Given the description of an element on the screen output the (x, y) to click on. 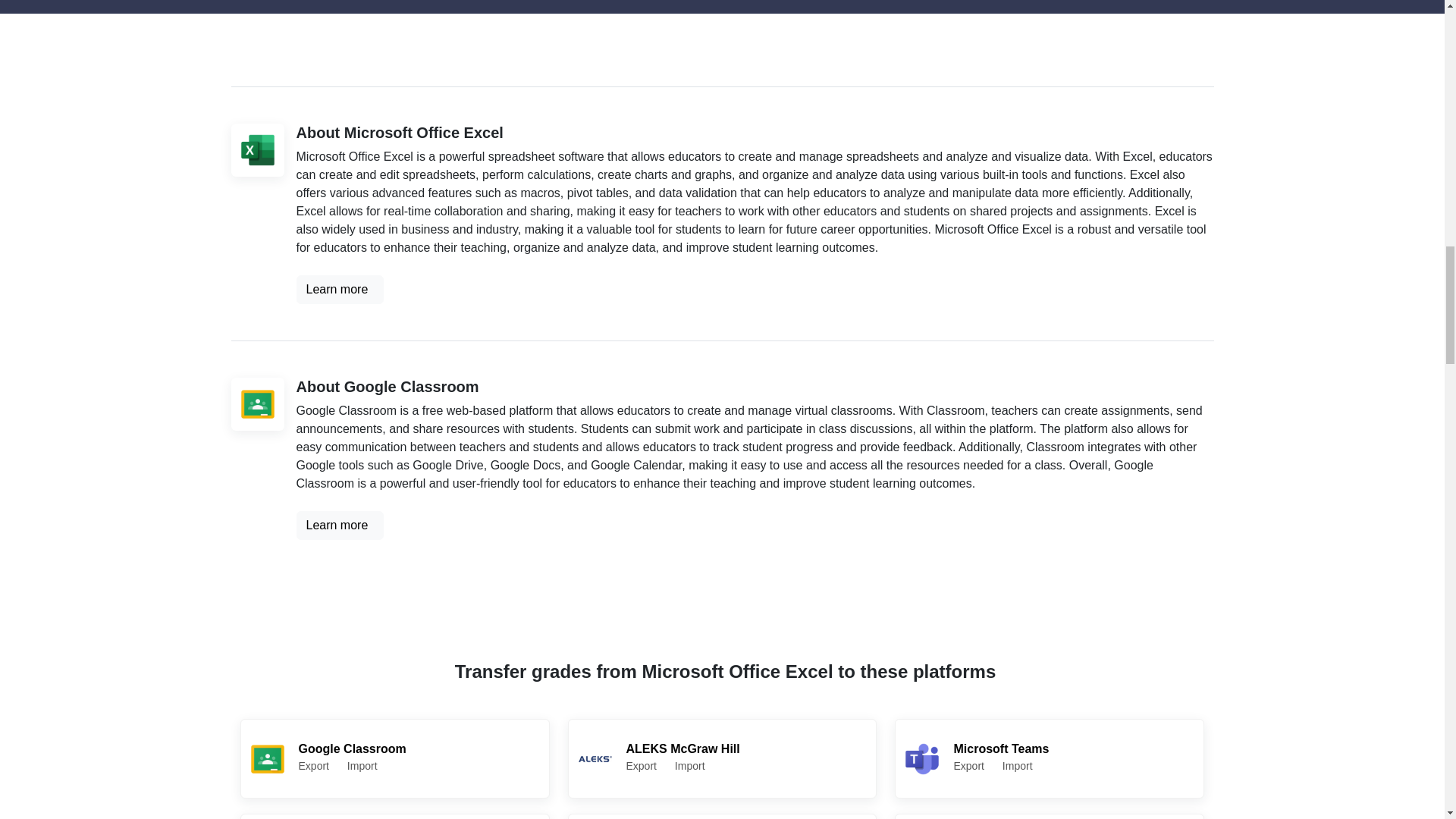
Transfer grades to Google Classroom (257, 403)
Learn more (1049, 758)
